Given the description of an element on the screen output the (x, y) to click on. 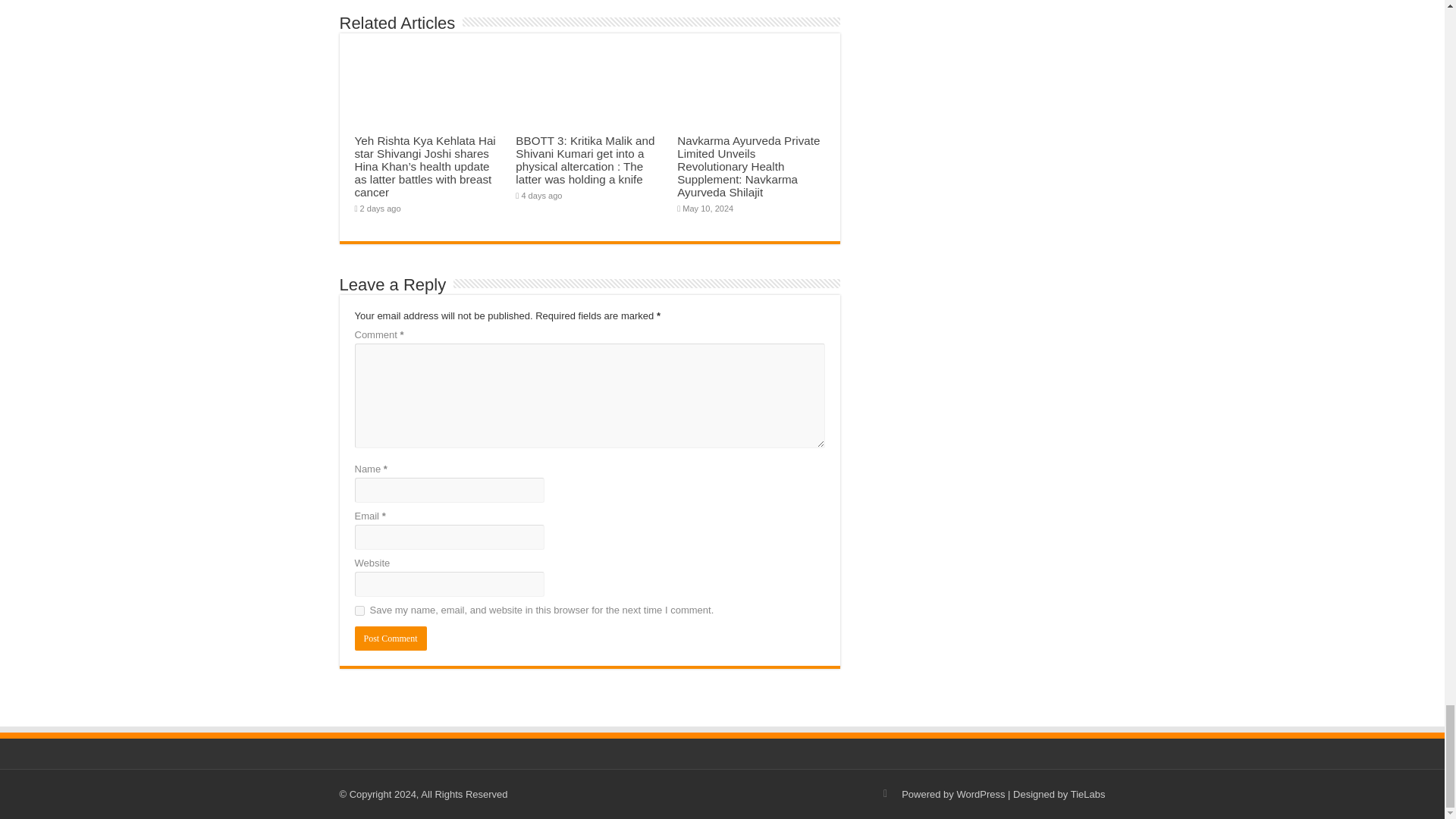
yes (360, 610)
Post Comment (390, 638)
